Given the description of an element on the screen output the (x, y) to click on. 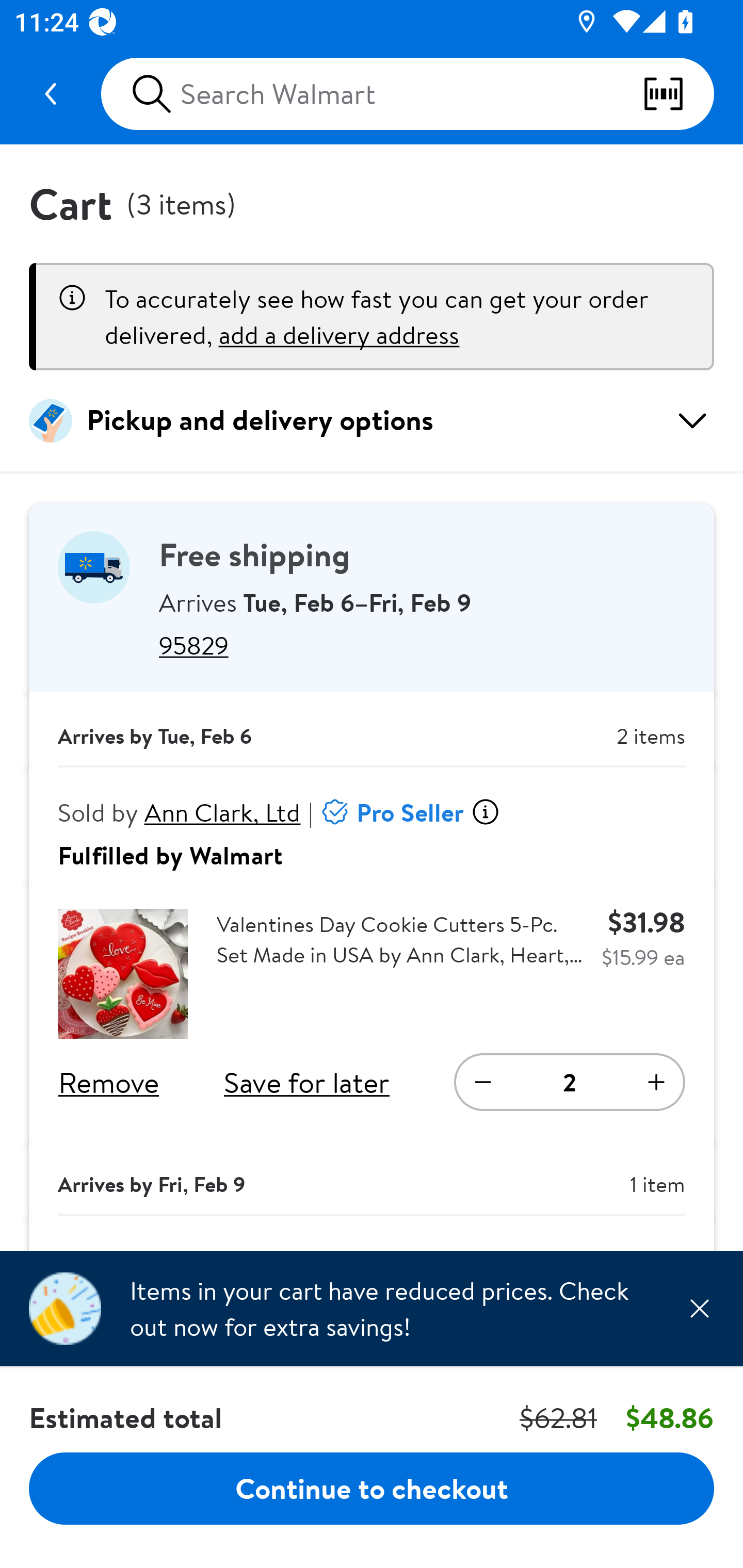
Navigate up (50, 93)
Search Walmart Opens barcode scanner (407, 94)
Opens barcode scanner (677, 94)
95829 (422, 645)
Sold by Ann Clark, Ltd (178, 811)
Info for Pro Seller (485, 812)
Item image (122, 973)
Close (699, 1308)
Continue to checkout (371, 1487)
